Given the description of an element on the screen output the (x, y) to click on. 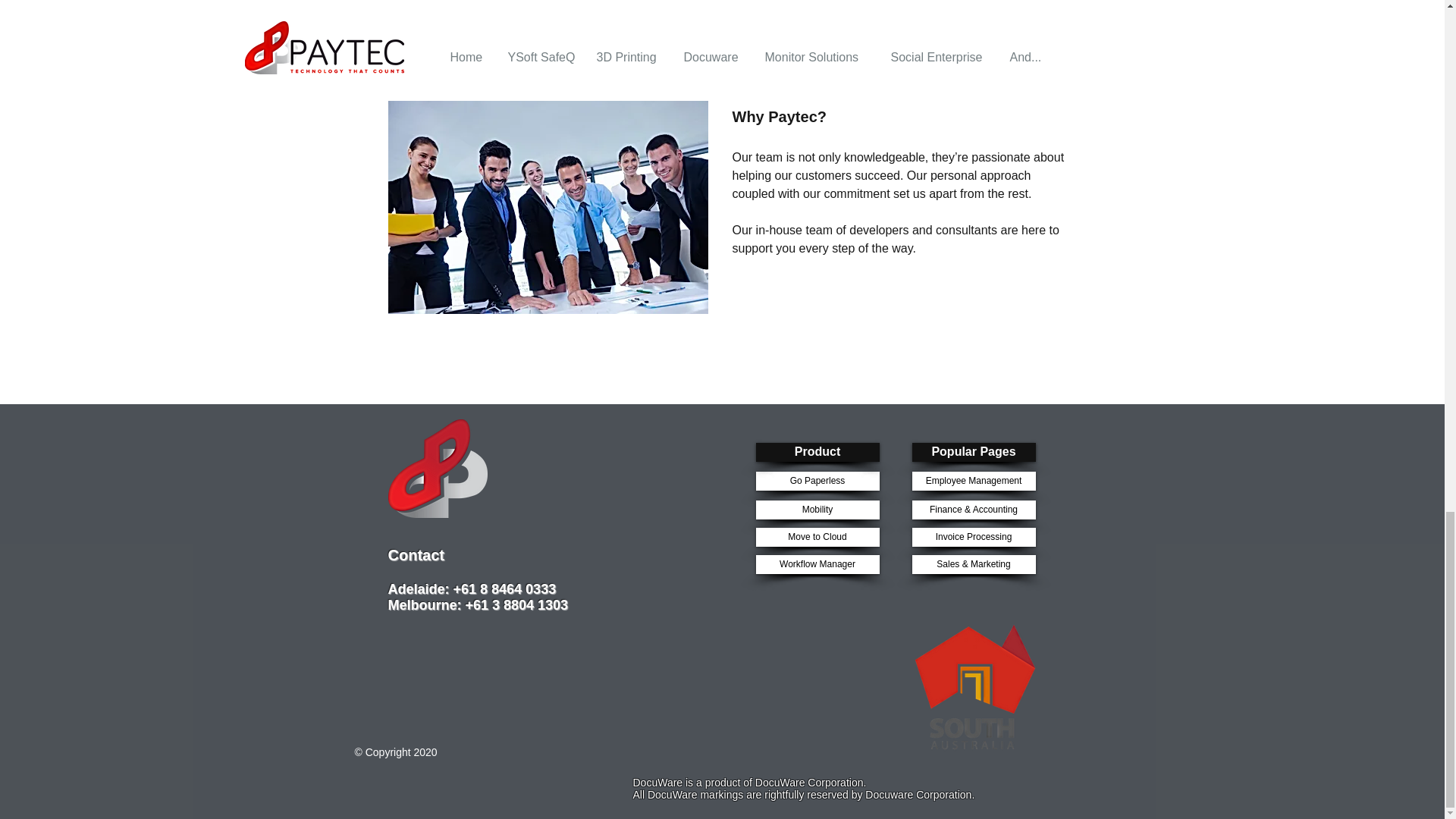
Workflow Manager (817, 564)
Employee Management (973, 480)
Mobility (817, 509)
Move to Cloud (817, 537)
Go Paperless (817, 480)
Invoice Processing (973, 537)
